Given the description of an element on the screen output the (x, y) to click on. 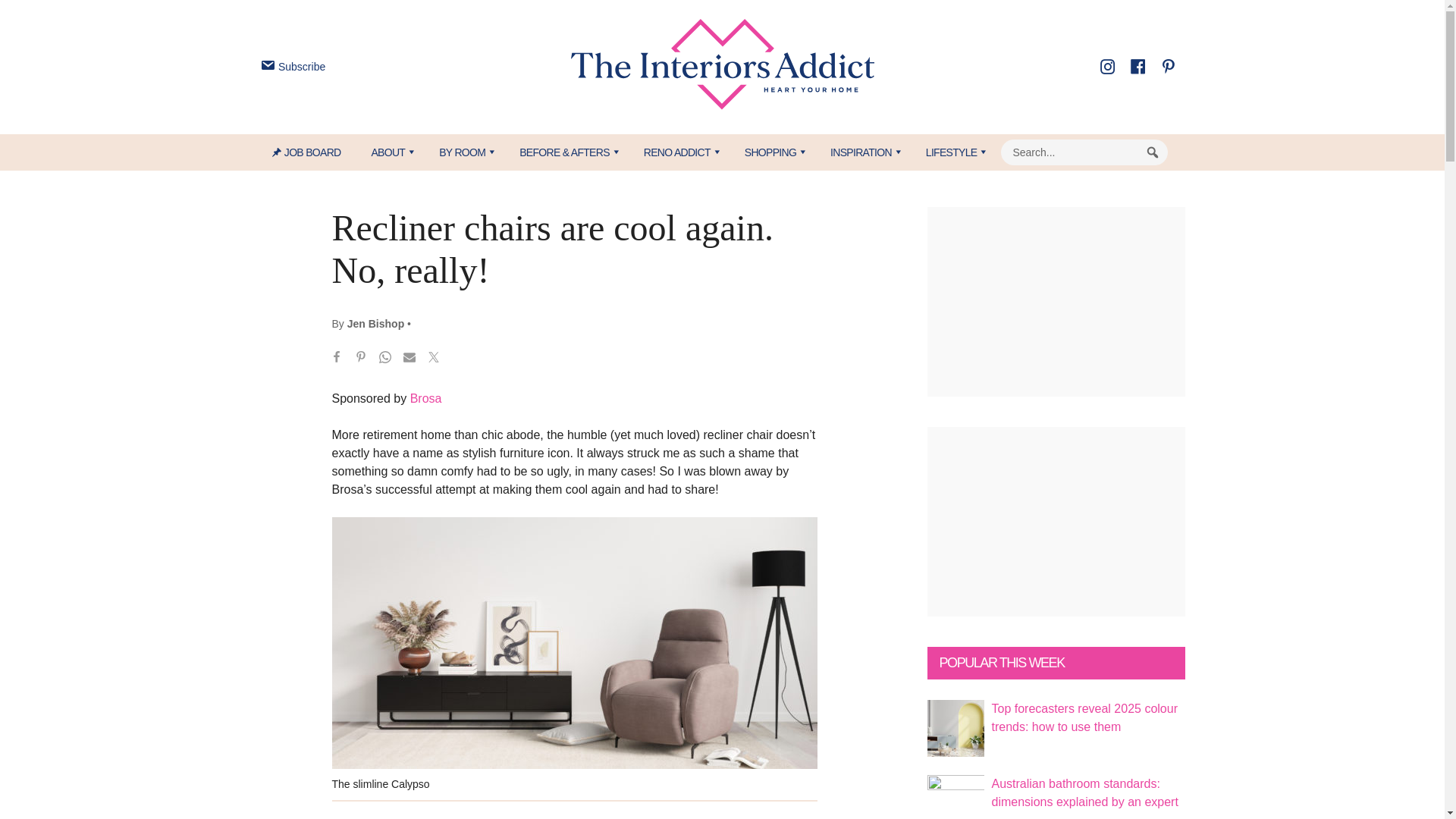
YES PLEASE! (793, 294)
Subscribe (291, 66)
Share on Facebook (336, 359)
BY ROOM (463, 152)
Share via Email (409, 359)
Share on Twitter (433, 359)
ABOUT (389, 152)
Search (1152, 151)
JOB BOARD (313, 152)
Share on Pinterest (360, 359)
